Given the description of an element on the screen output the (x, y) to click on. 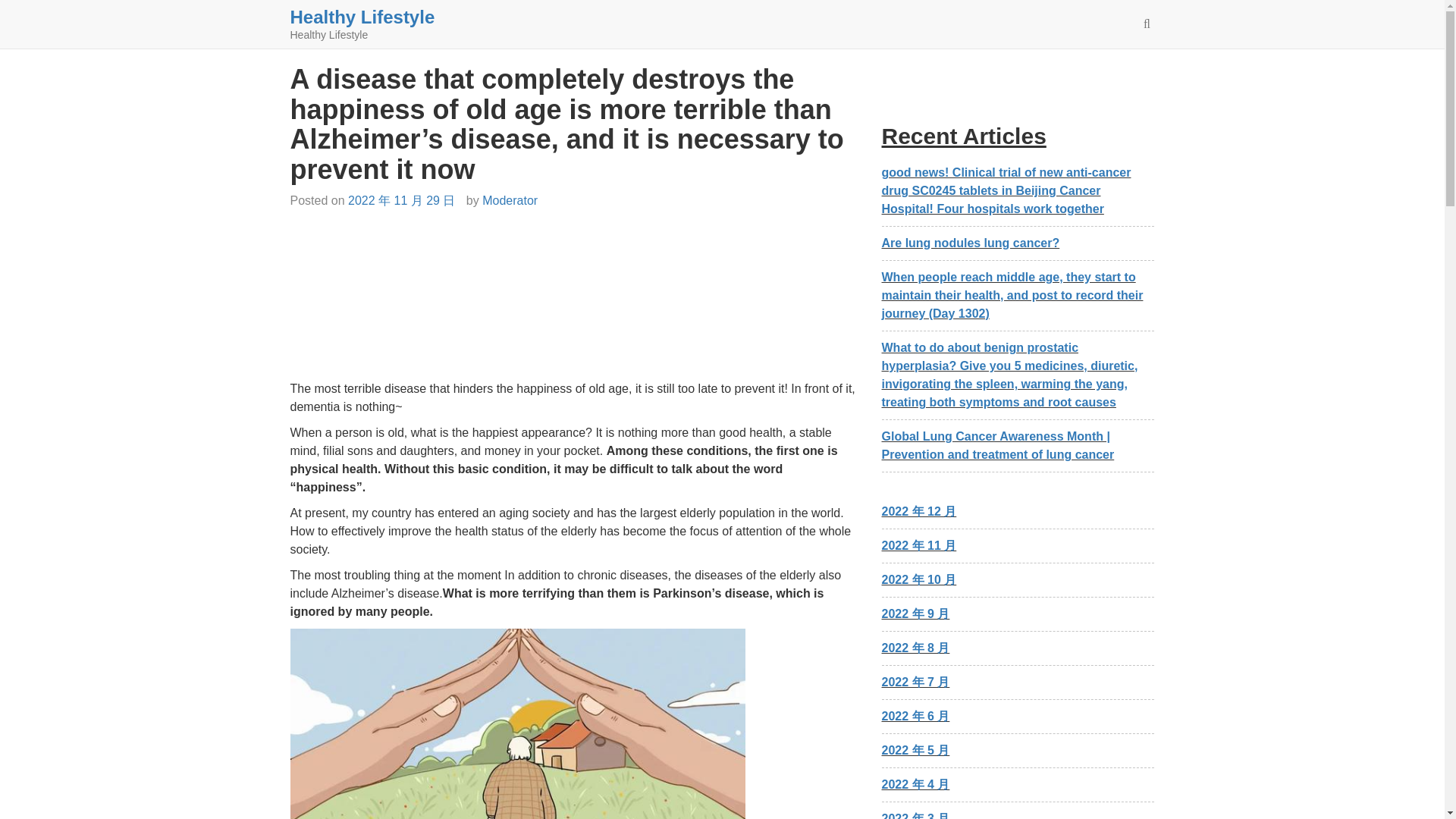
Are lung nodules lung cancer? (969, 242)
Advertisement (574, 301)
Moderator (509, 200)
Healthy Lifestyle (361, 16)
